Given the description of an element on the screen output the (x, y) to click on. 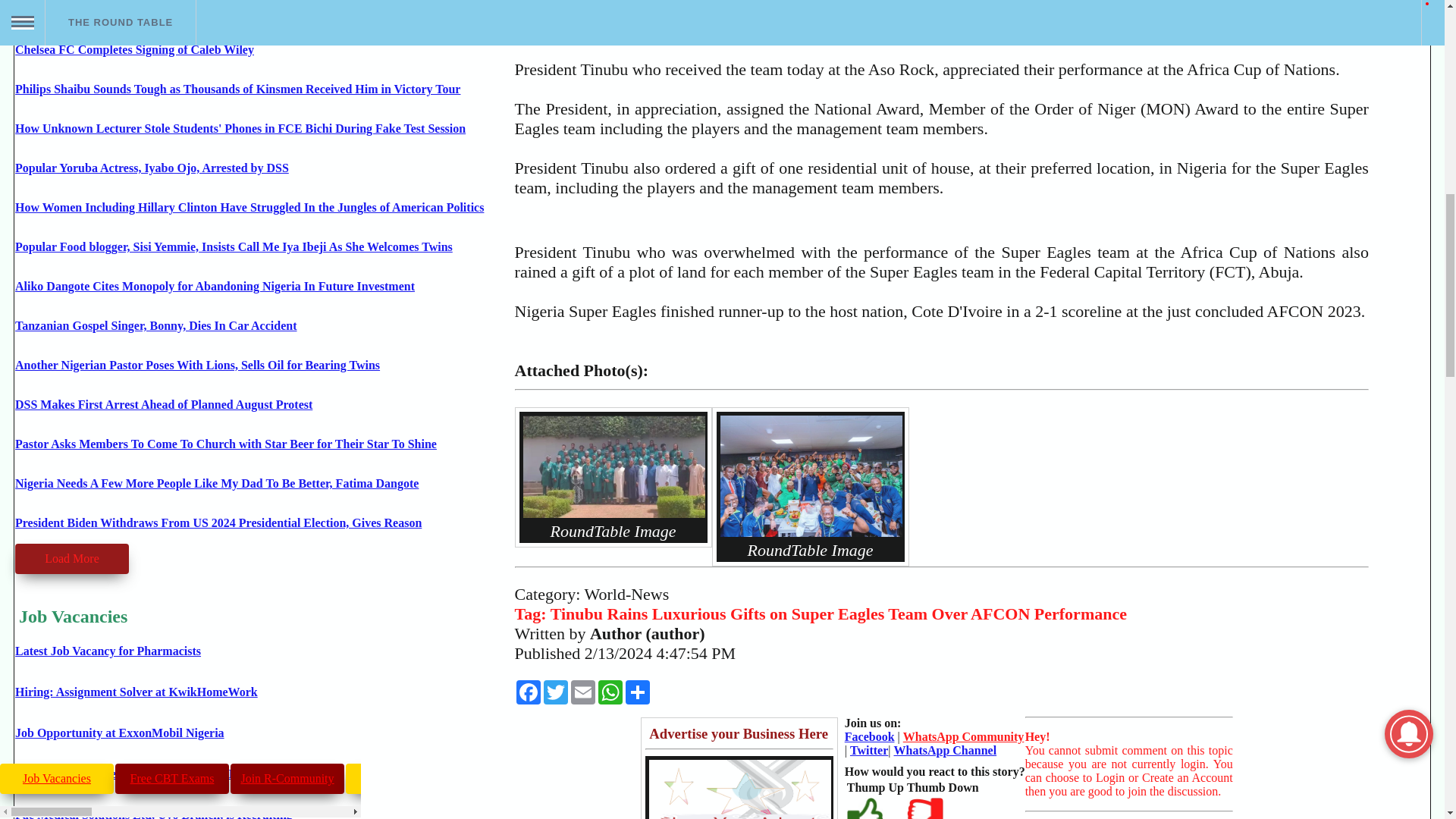
Popular Yoruba Actress, Iyabo Ojo, Arrested by DSS (151, 167)
Load More (71, 558)
Latest Job Vacancy for Pharmacists (107, 650)
Chelsea FC Completes Signing of Caleb Wiley (133, 49)
Tanzanian Gospel Singer, Bonny, Dies In Car Accident (155, 325)
DSS Makes First Arrest Ahead of Planned August Protest (163, 404)
